Given the description of an element on the screen output the (x, y) to click on. 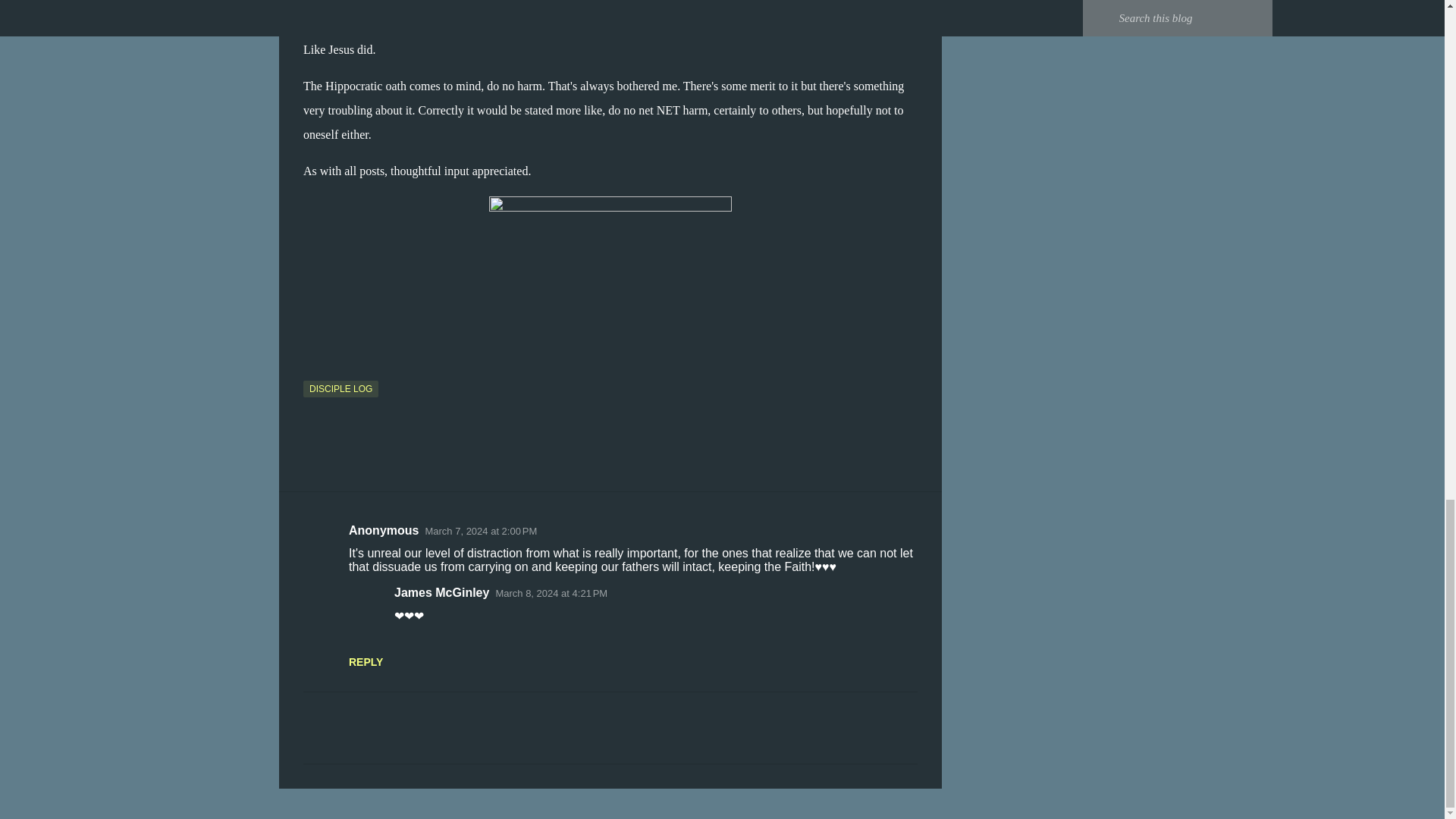
REPLY (365, 662)
DISCIPLE LOG (340, 388)
James McGinley (441, 592)
